Given the description of an element on the screen output the (x, y) to click on. 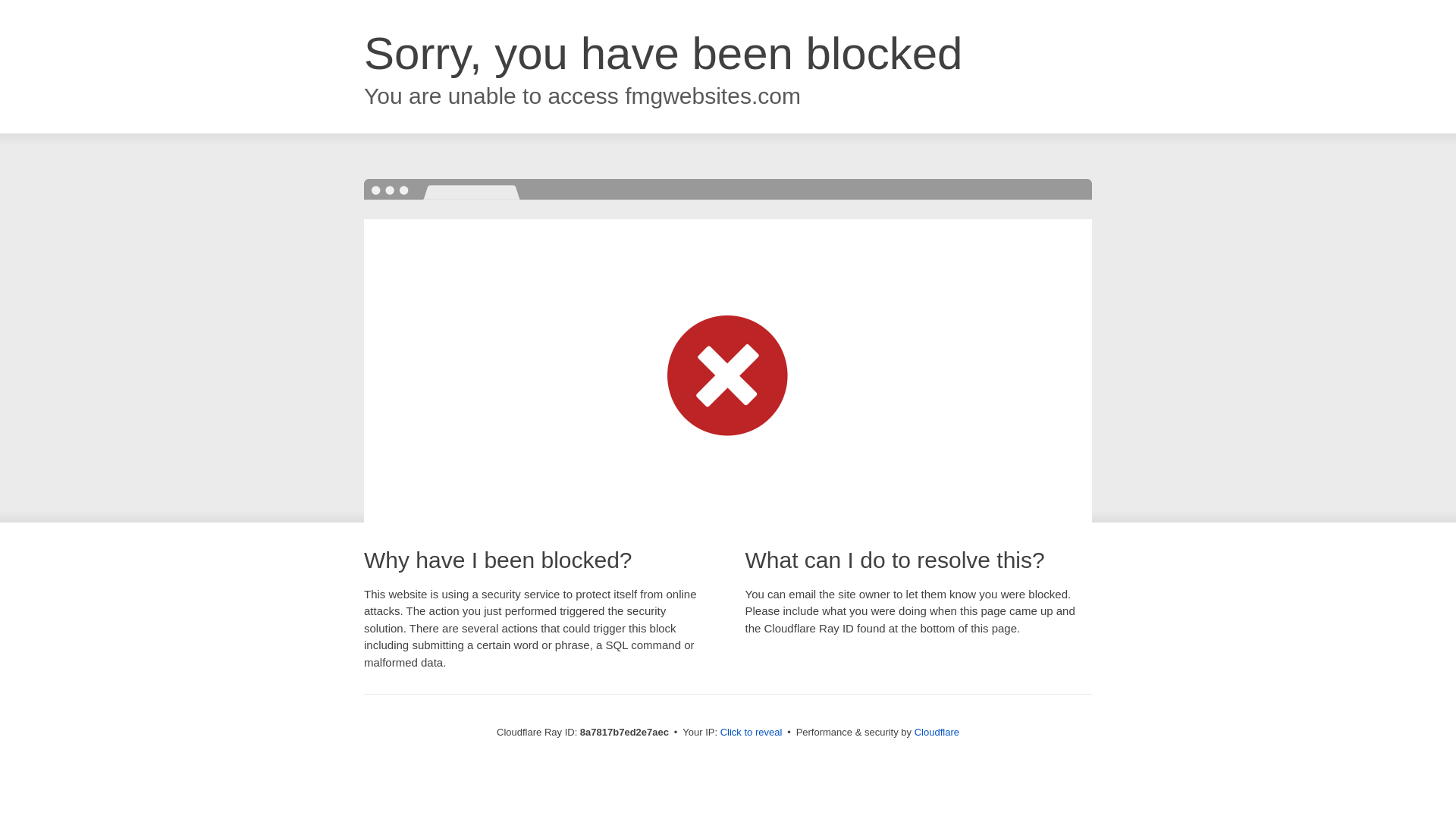
Cloudflare (936, 731)
Click to reveal (751, 732)
